Given the description of an element on the screen output the (x, y) to click on. 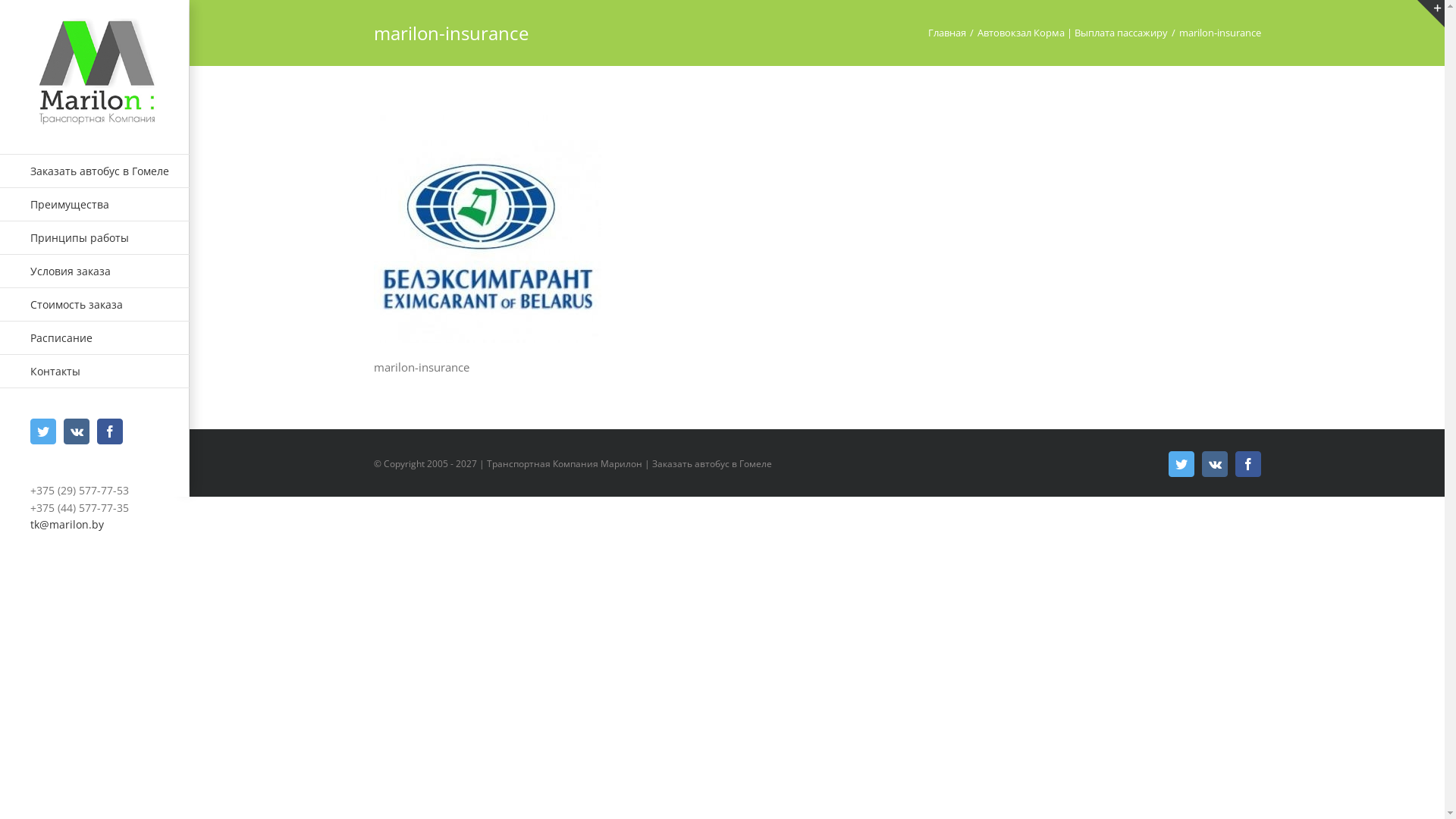
tk@marilon.by Element type: text (66, 524)
Twitter Element type: text (43, 431)
Vk Element type: text (76, 431)
Facebook Element type: text (109, 431)
Vk Element type: text (1213, 463)
Twitter Element type: text (1180, 463)
Facebook Element type: text (1247, 463)
Toggle Sliding Bar Area Element type: text (1430, 13)
